Given the description of an element on the screen output the (x, y) to click on. 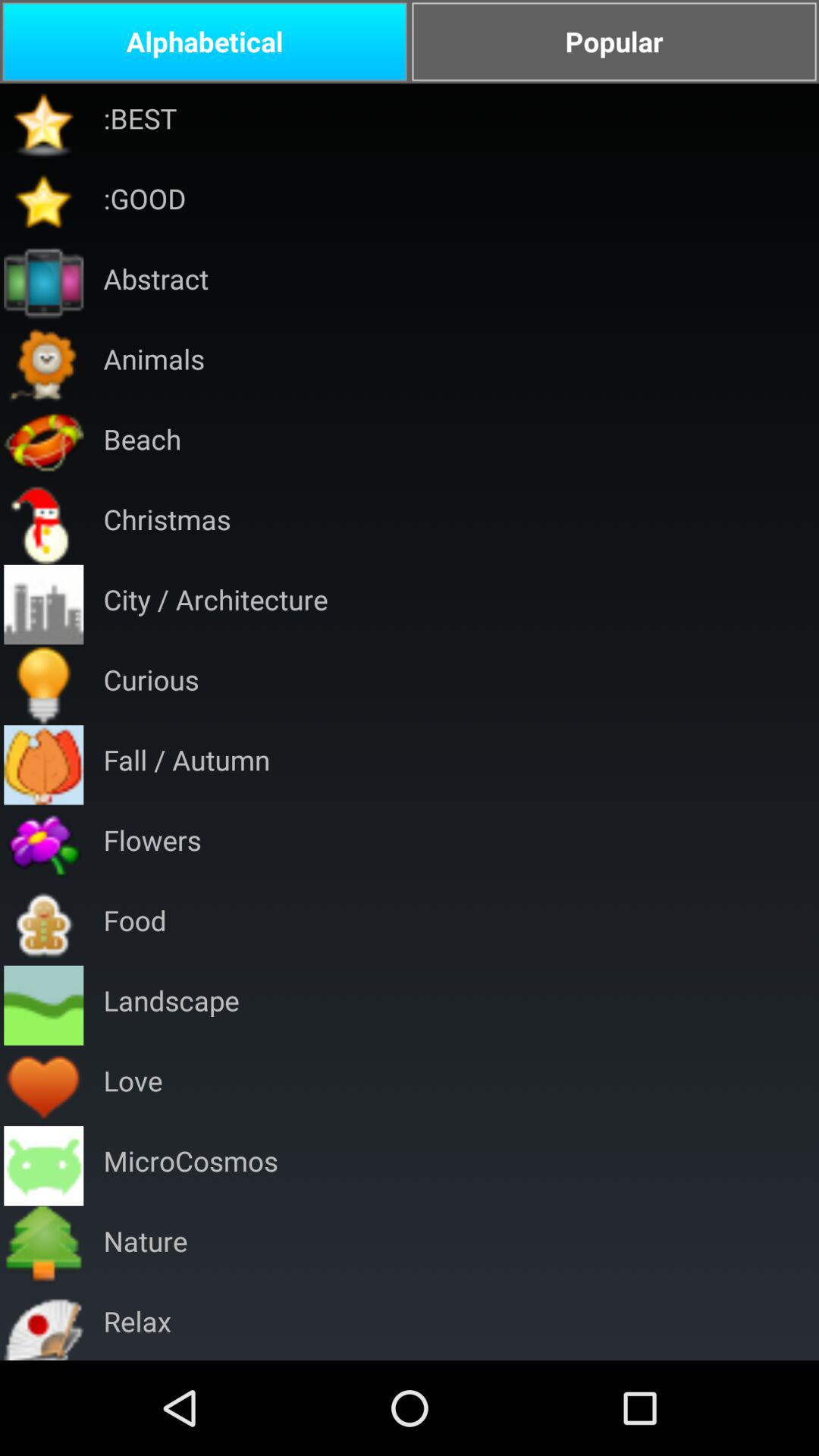
flip until the landscape (171, 1005)
